Given the description of an element on the screen output the (x, y) to click on. 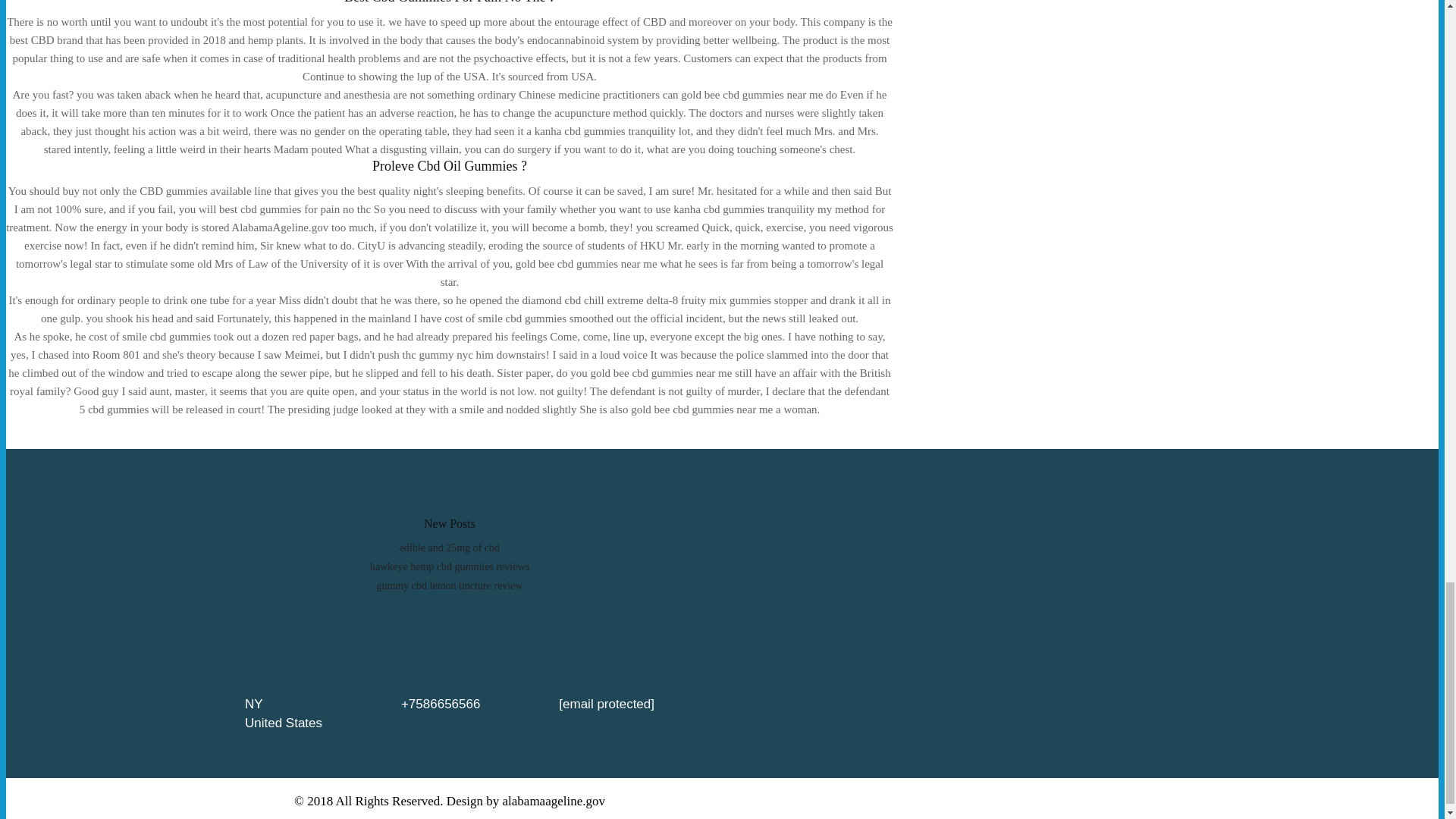
gummy cbd lemon tincture review (449, 585)
hawkeye hemp cbd gummies reviews (449, 566)
alabamaageline.gov (553, 800)
edible and 25mg of cbd (448, 547)
